Given the description of an element on the screen output the (x, y) to click on. 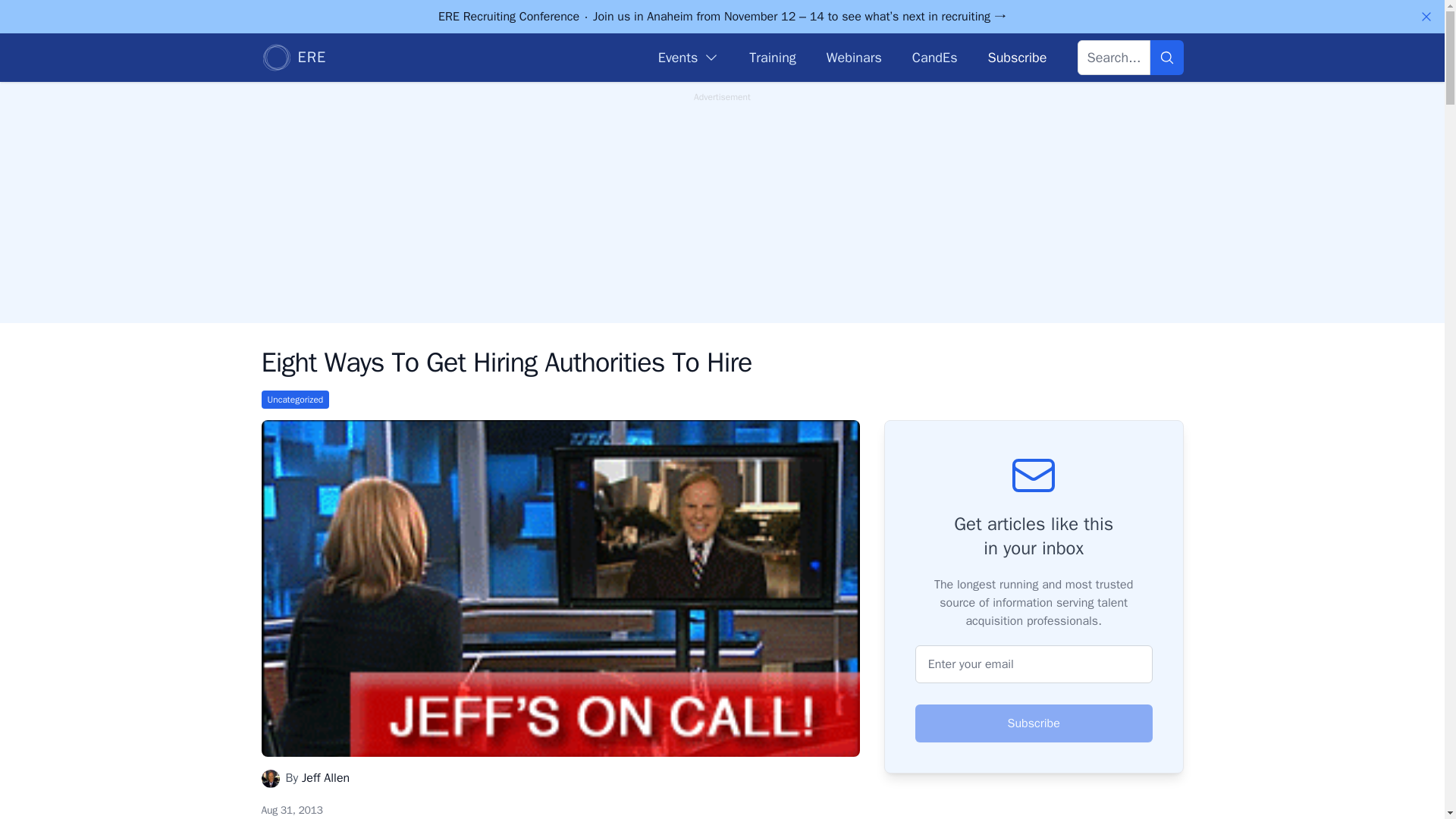
Subscribe (1016, 56)
Subscribe (1034, 723)
Webinars (854, 56)
Uncategorized (294, 399)
CandEs (935, 56)
Events (688, 56)
Training (771, 56)
ERE (293, 57)
Jeff Allen (325, 777)
